Given the description of an element on the screen output the (x, y) to click on. 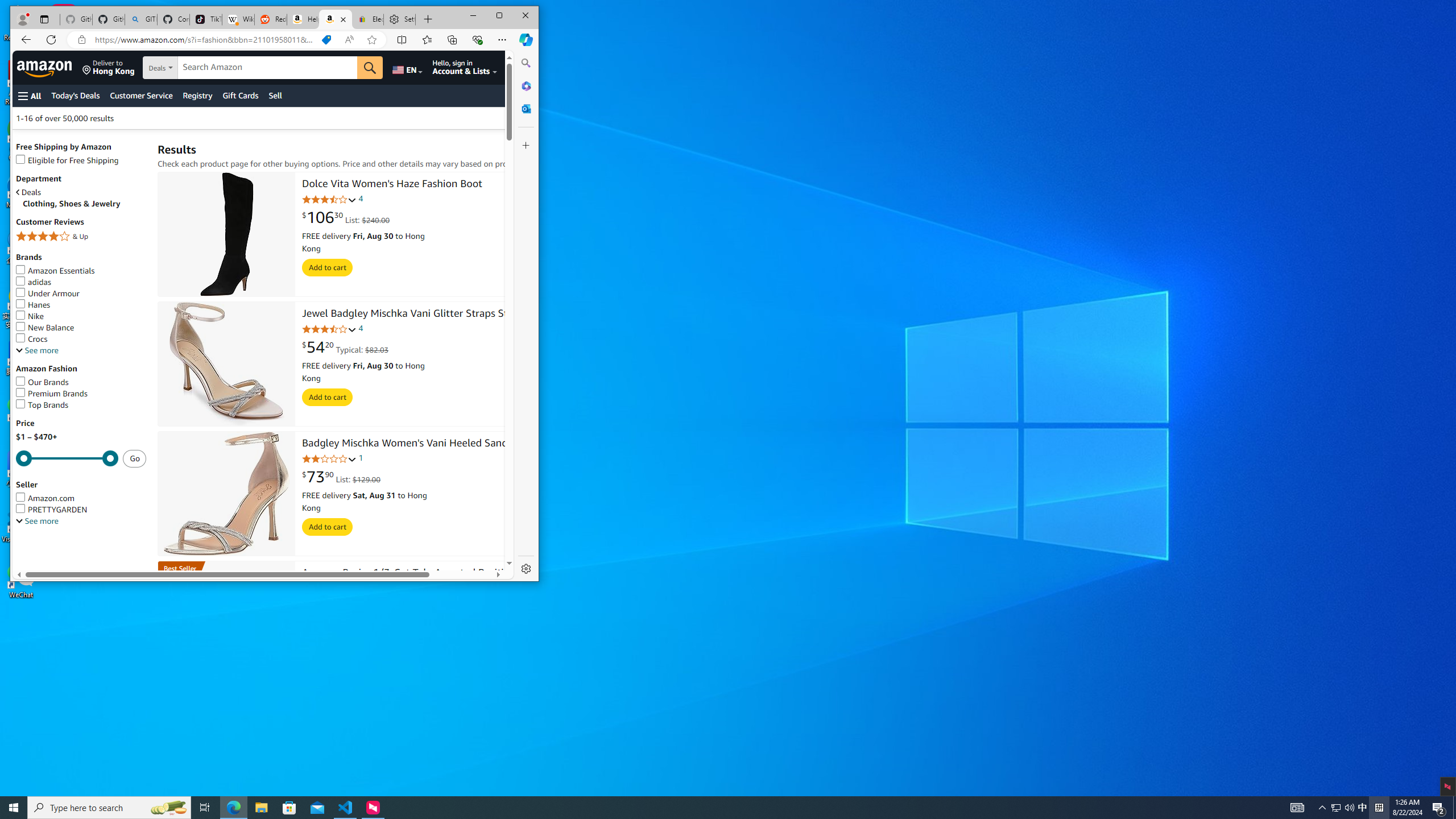
Microsoft Edge - 1 running window (233, 807)
New Balance (45, 327)
File Explorer (261, 807)
$73.90 List: $129.00 (340, 476)
Registry (197, 95)
Type here to search (108, 807)
Hanes (33, 304)
Deals (80, 192)
Our Brands (42, 382)
Badgley Mischka Women's Vani Heeled Sandal (408, 443)
Jewel Badgley Mischka Vani Glitter Straps Stiletto Heels (225, 364)
Go back to filtering menu (58, 564)
